Given the description of an element on the screen output the (x, y) to click on. 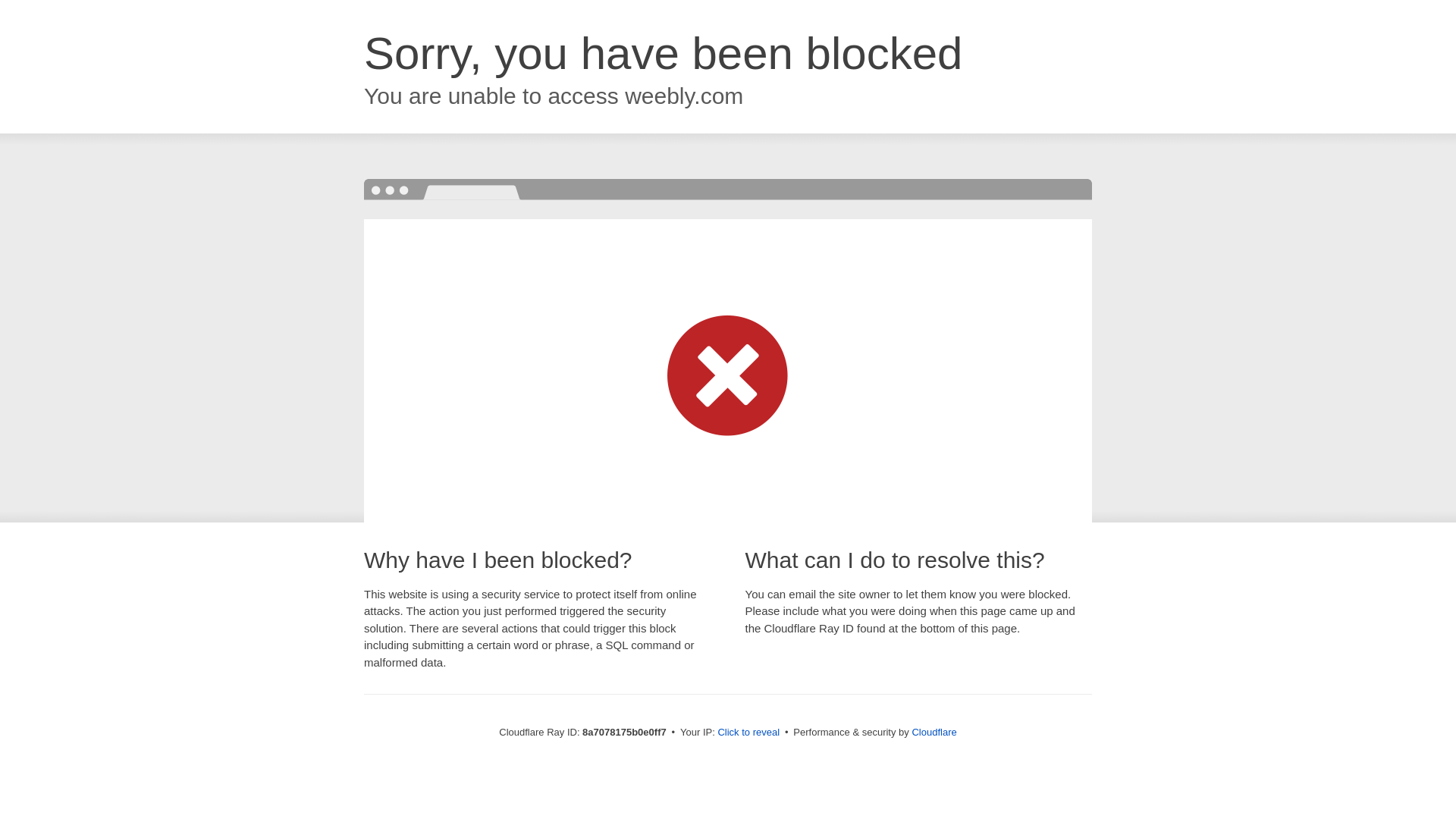
Cloudflare (933, 731)
Click to reveal (747, 732)
